Given the description of an element on the screen output the (x, y) to click on. 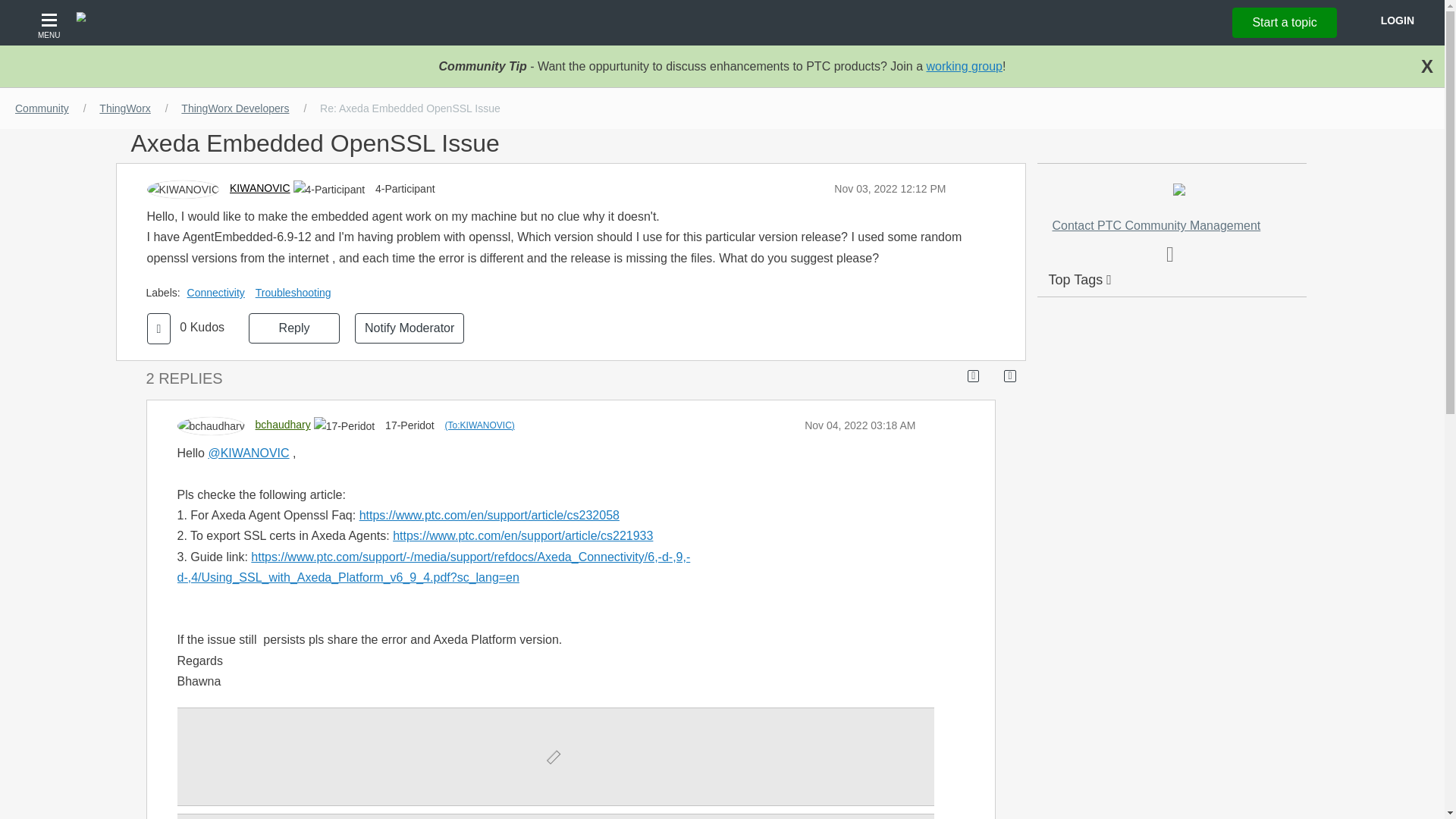
working group (964, 65)
ThingWorx (124, 108)
Start a topic (1283, 22)
KIWANOVIC (259, 187)
MENU (50, 22)
LOGIN (1396, 20)
Connectivity (219, 292)
Notify Moderator (409, 327)
bchaudhary (283, 424)
Troubleshooting (297, 292)
Reply (293, 327)
Community (42, 108)
ThingWorx Developers (235, 108)
